Given the description of an element on the screen output the (x, y) to click on. 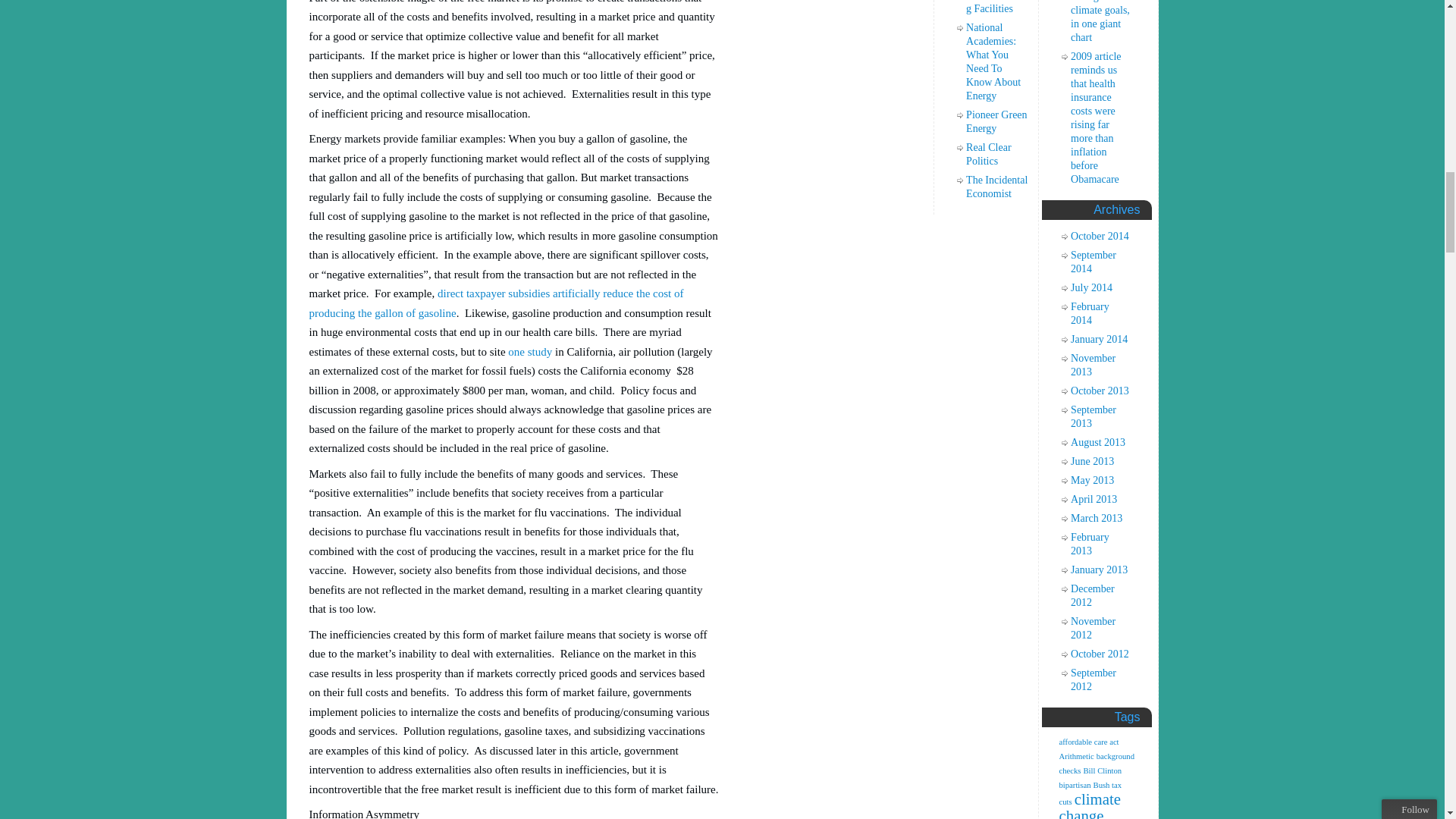
The Price of Oil: Exposing the true costs of fossil fuels (496, 303)
one study (529, 351)
Fullerton Study on External Cost of Air Pollution in CA (529, 351)
